Given the description of an element on the screen output the (x, y) to click on. 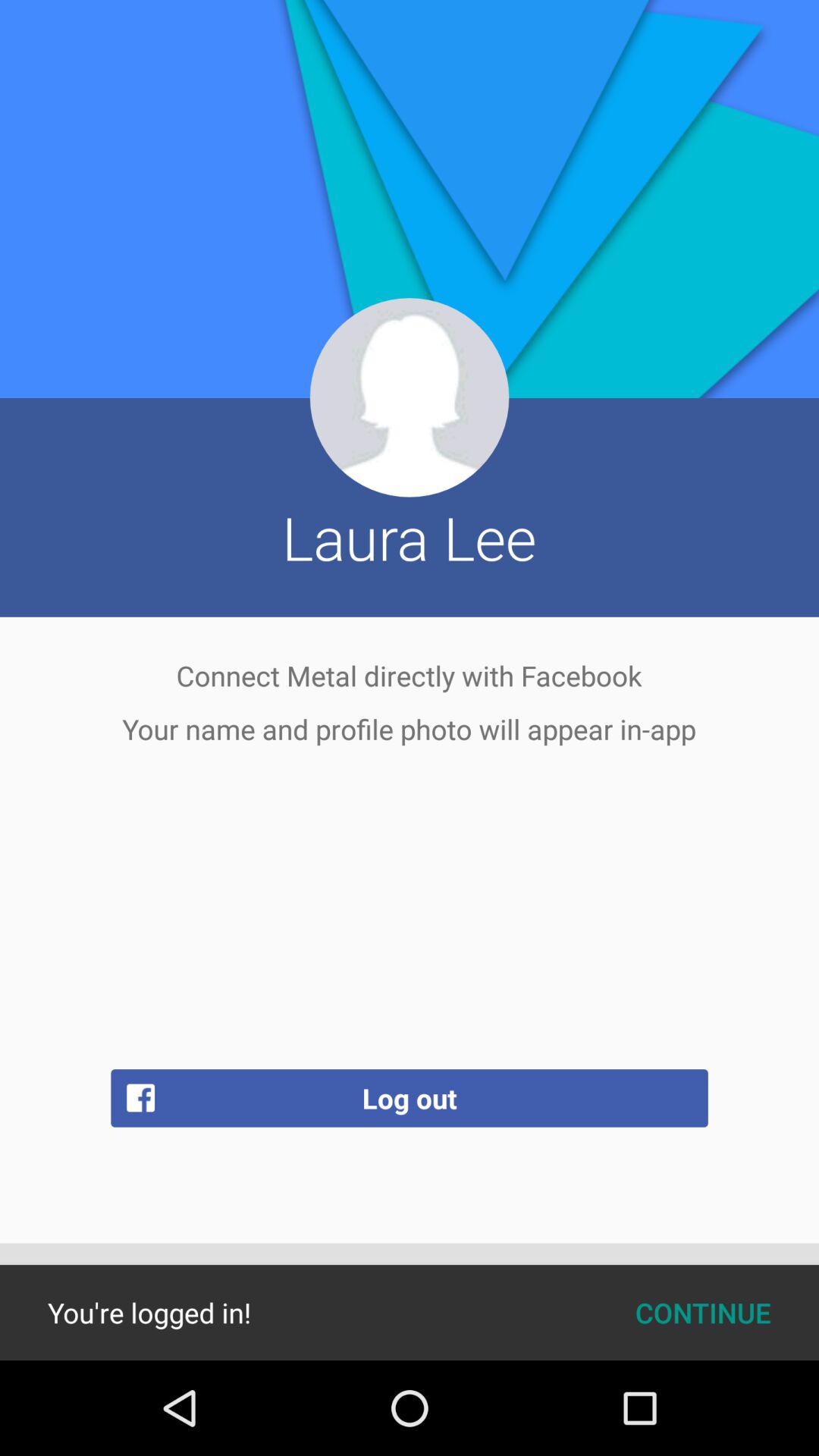
scroll to the log out icon (409, 1098)
